Given the description of an element on the screen output the (x, y) to click on. 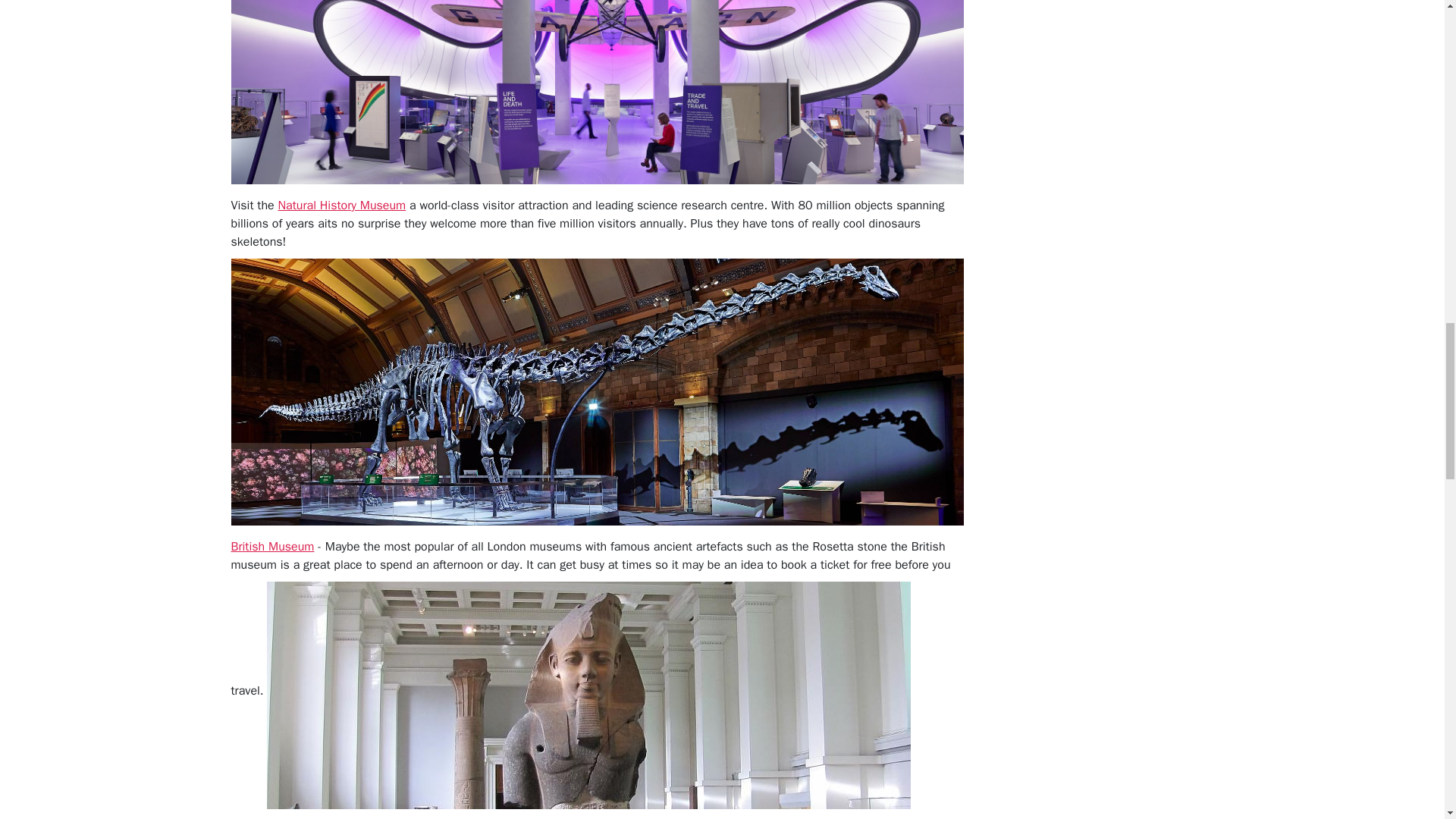
British Museum (272, 546)
Natural History Museum (342, 205)
British Museum (272, 546)
Natural History Museum (342, 205)
